Given the description of an element on the screen output the (x, y) to click on. 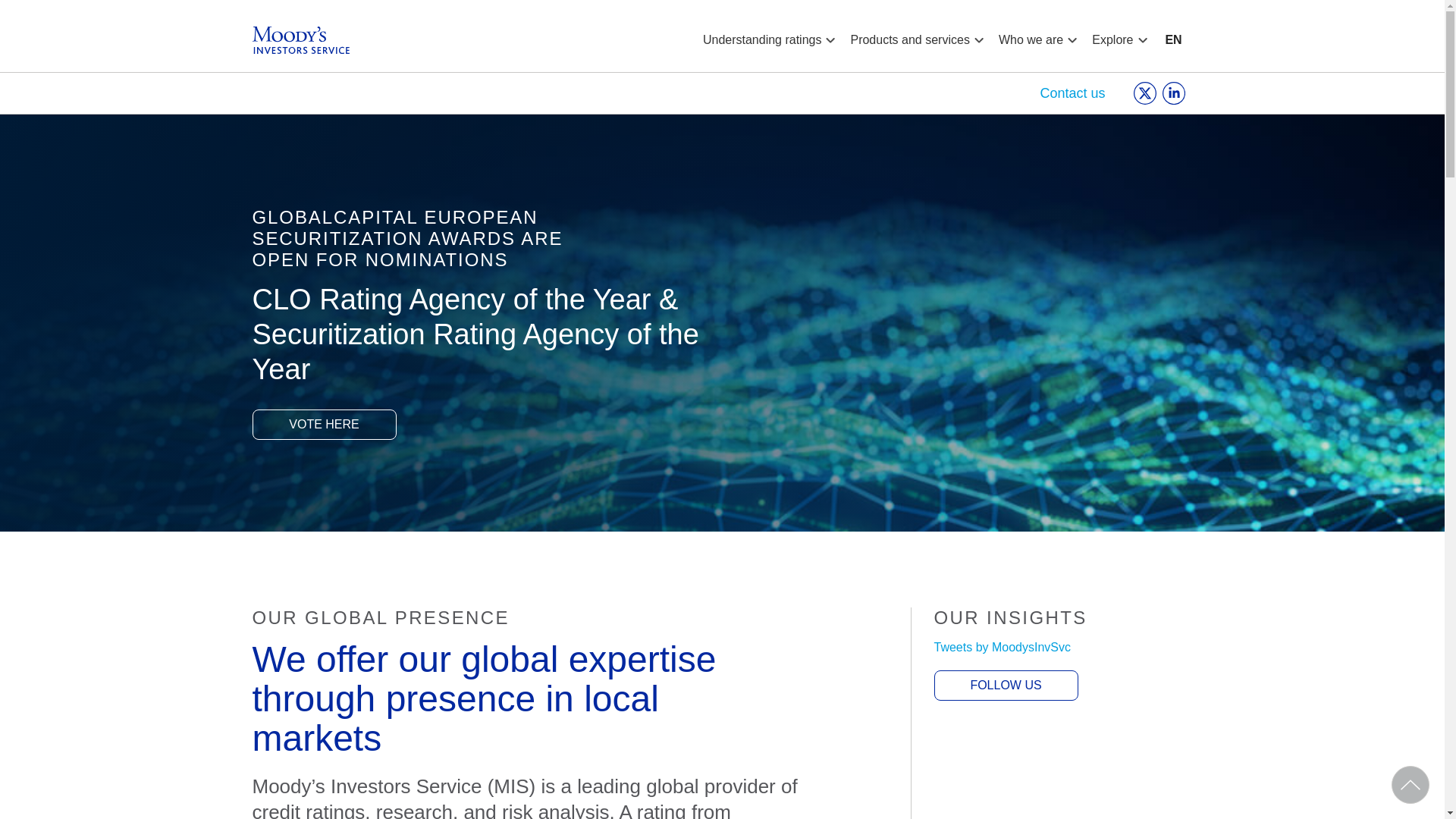
Tweets by MoodysInvSvc Element type: text (1002, 646)
Contact us Element type: text (1071, 92)
VOTE HERE Element type: text (323, 424)
FOLLOW US Element type: text (1006, 685)
